Given the description of an element on the screen output the (x, y) to click on. 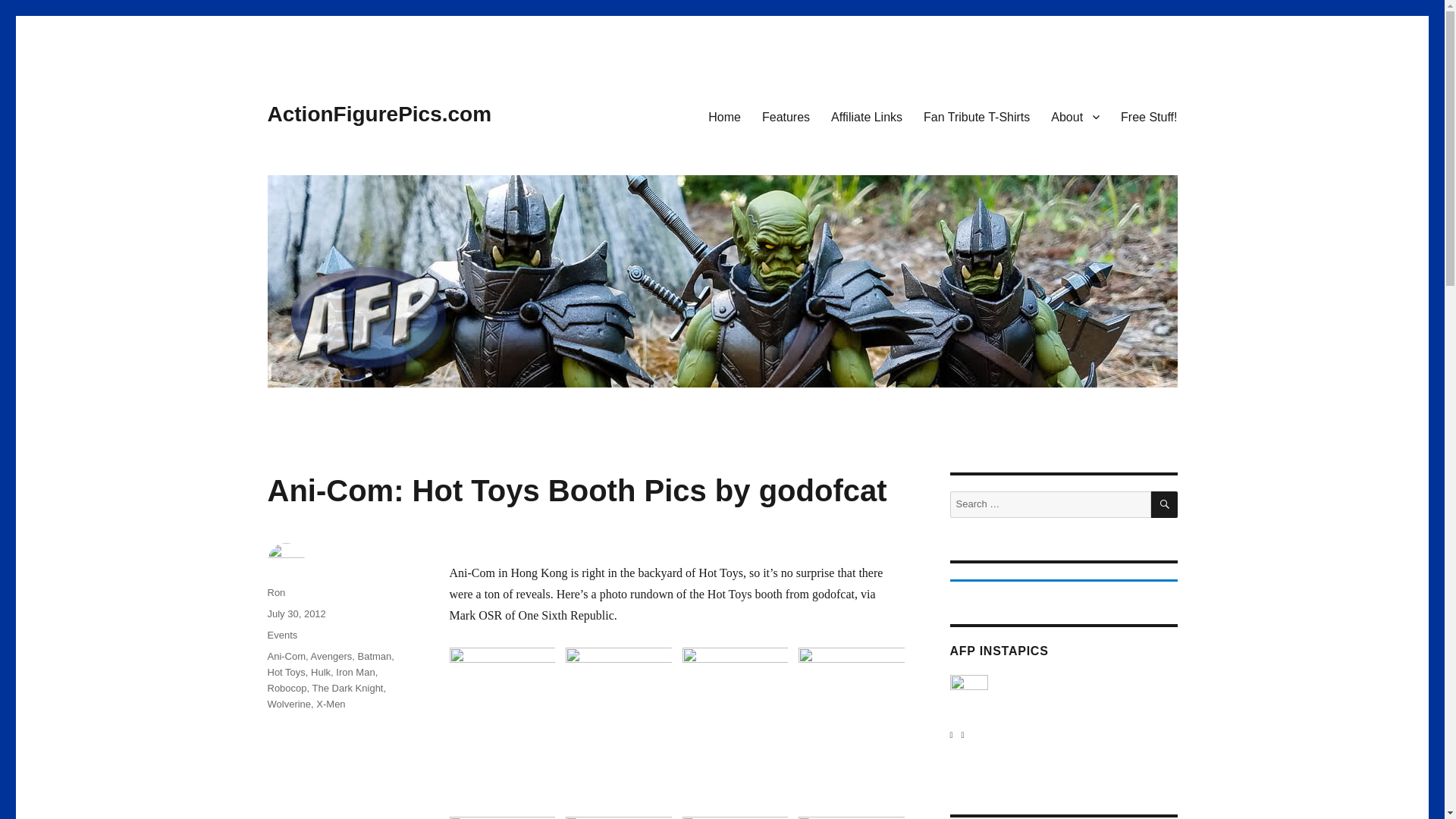
Ani-Com (285, 655)
About (1075, 116)
Free Stuff! (1148, 116)
Ron (275, 592)
Affiliate Links (866, 116)
July 30, 2012 (295, 613)
Avengers (331, 655)
Home (724, 116)
ActionFigurePics.com (379, 114)
Events (281, 634)
